Given the description of an element on the screen output the (x, y) to click on. 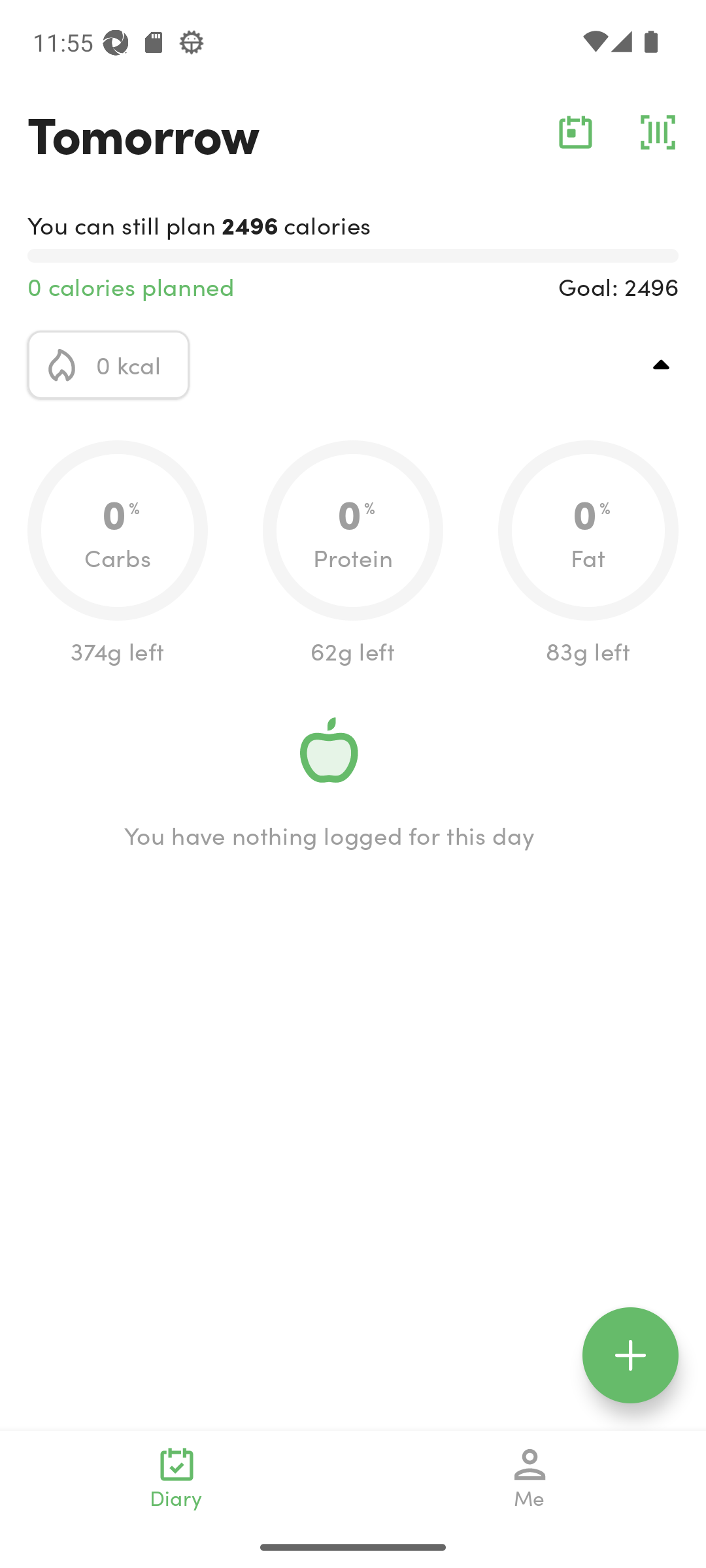
calendar_action (575, 132)
barcode_action (658, 132)
calorie_icon 0 kcal (108, 365)
top_right_action (661, 365)
0.0 0 % Carbs 374g left (117, 553)
0.0 0 % Protein 62g left (352, 553)
0.0 0 % Fat 83g left (588, 553)
floating_action_icon (630, 1355)
Me navigation_icon (529, 1478)
